Given the description of an element on the screen output the (x, y) to click on. 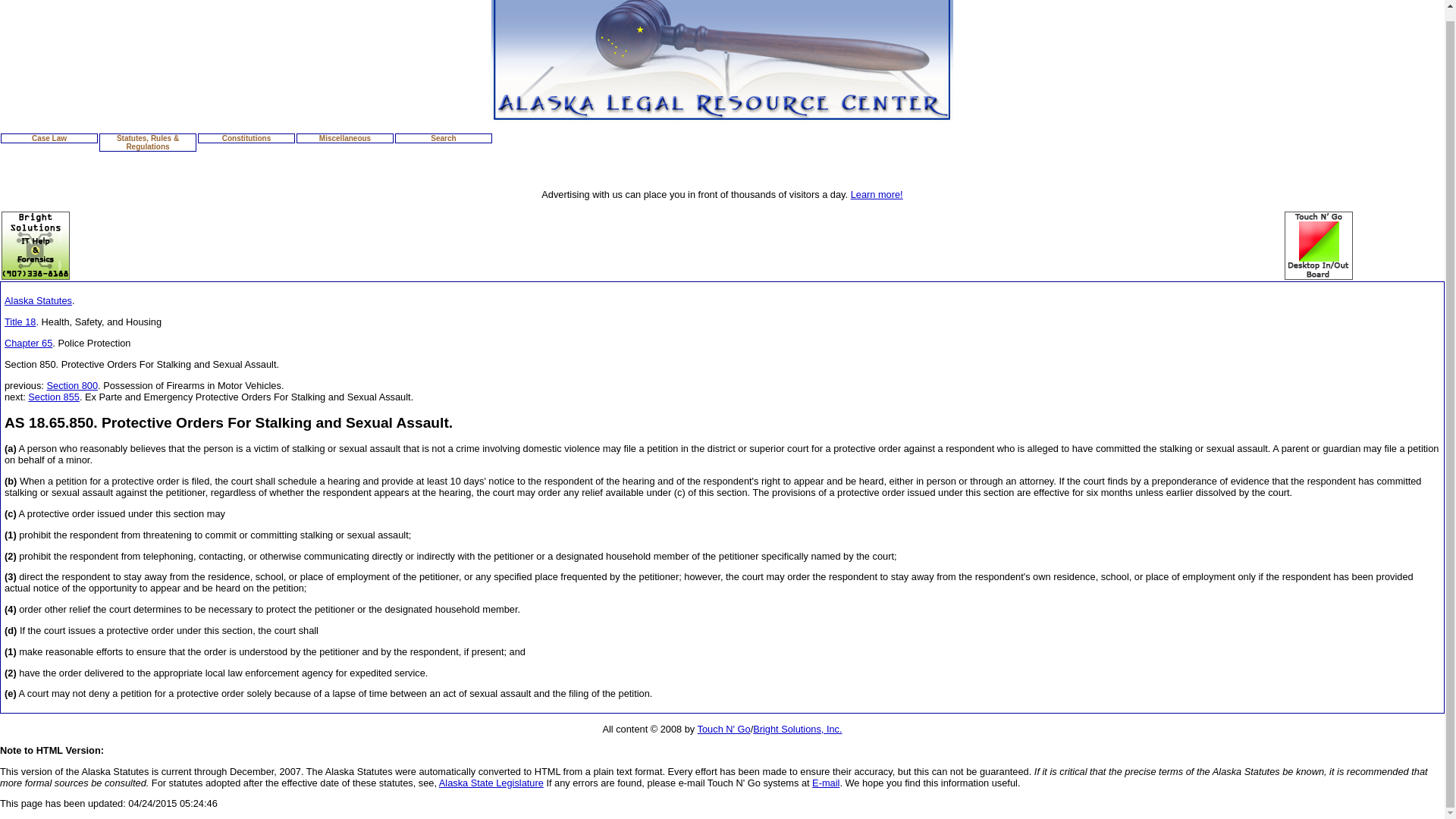
Learn more! (876, 194)
Chapter 65 (28, 342)
E-mail (826, 782)
Section 855 (53, 396)
Constitutions (246, 138)
Miscellaneous (345, 138)
Case Law (49, 138)
Alaska State Legislature (491, 782)
Section 800 (71, 385)
Advertisement (721, 245)
Alaska Statutes (37, 300)
Bright Solutions, Inc. (796, 728)
Touch N' Go (724, 728)
Search (444, 138)
Title 18 (20, 321)
